Given the description of an element on the screen output the (x, y) to click on. 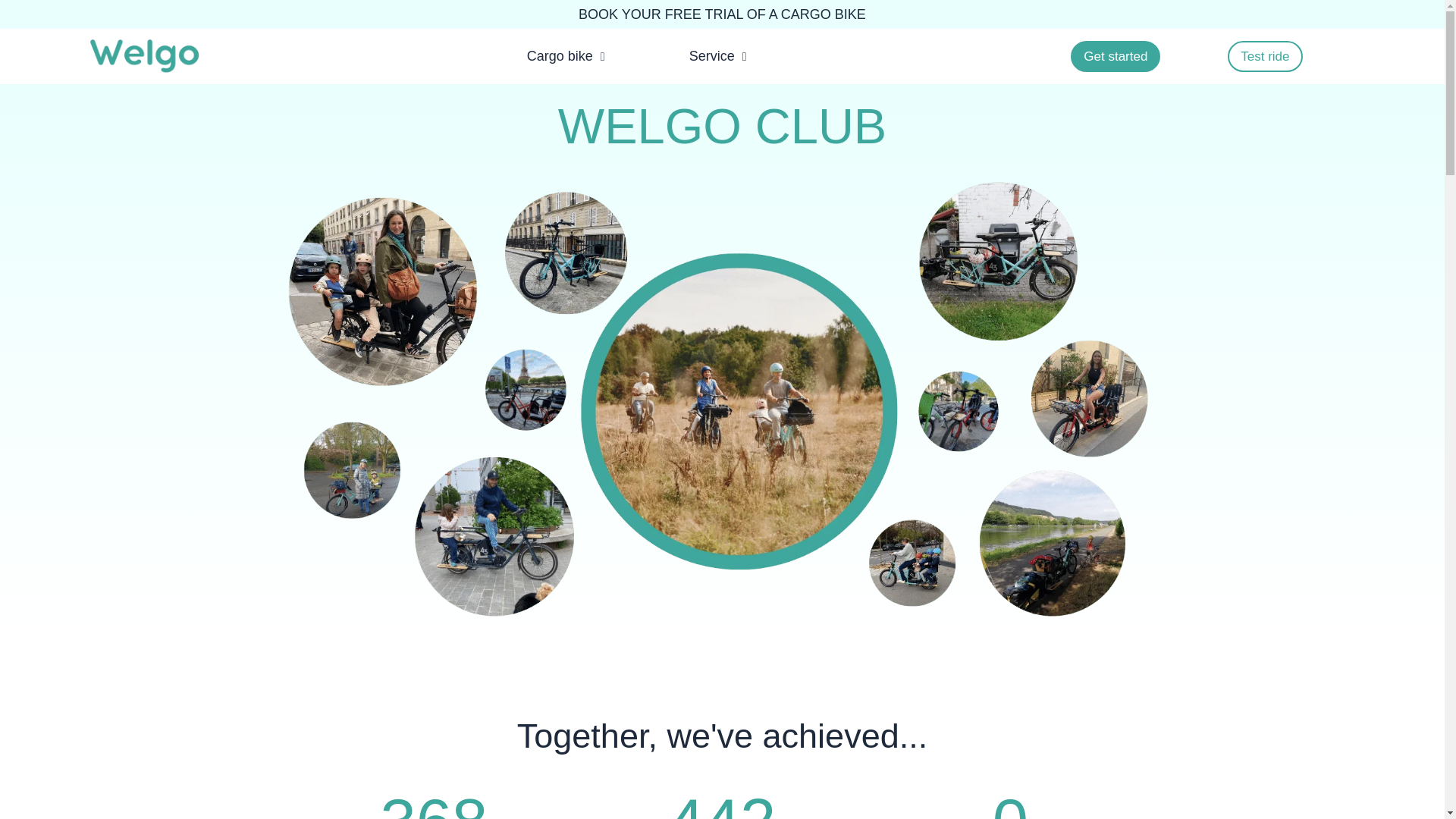
BOOK YOUR FREE TRIAL OF A CARGO BIKE (722, 14)
Test ride (1264, 56)
Get started (1115, 56)
